Given the description of an element on the screen output the (x, y) to click on. 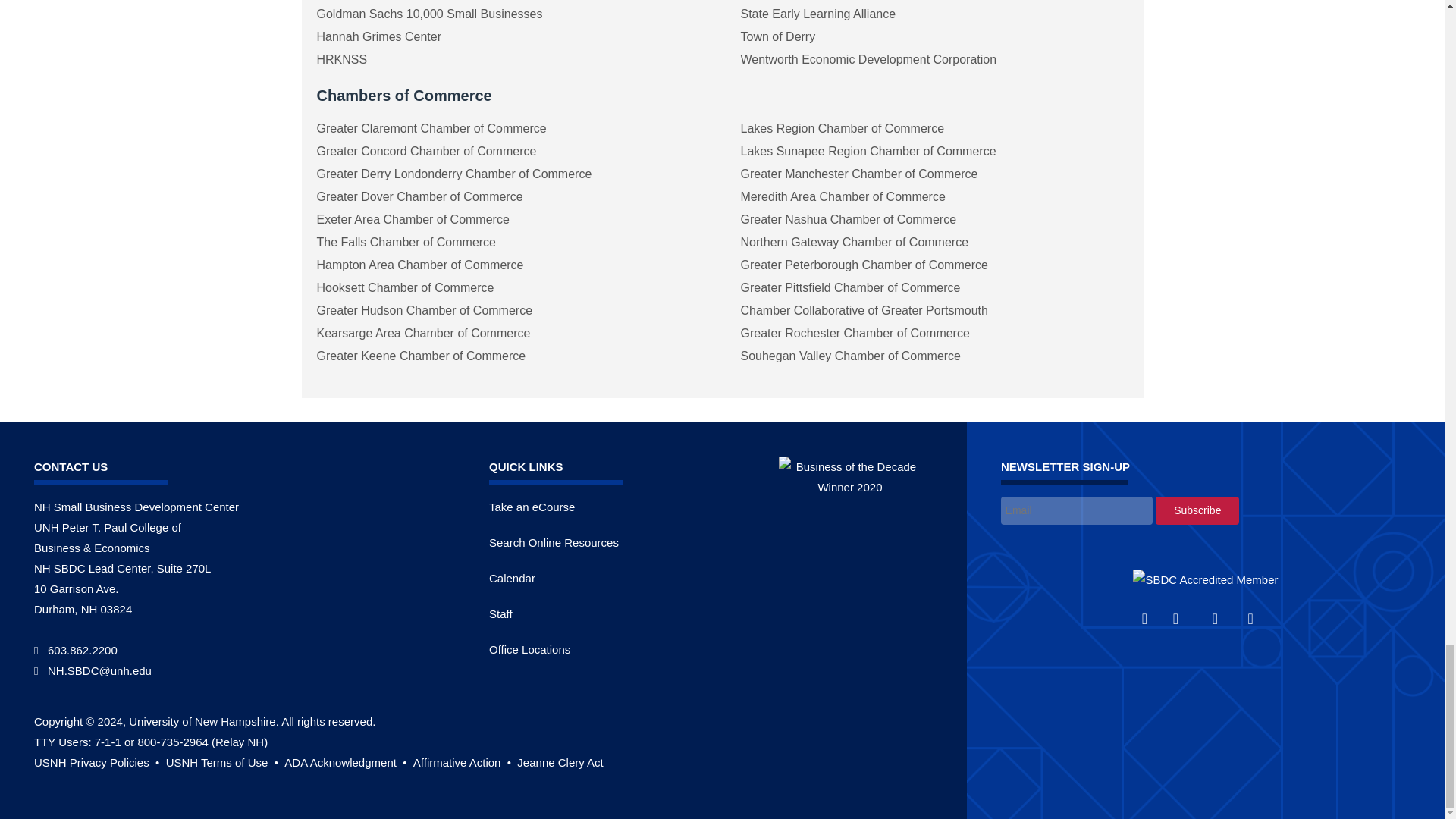
Meet the Team (500, 613)
Learn more about ADA acknowledgement (346, 762)
Learn (97, 762)
Learn (223, 762)
Learn (559, 762)
NHSBDC on Facebook (1150, 618)
NHSBDC on Linkedin (1223, 618)
Locations (529, 649)
Subscribe (1197, 510)
Learn (463, 762)
